Given the description of an element on the screen output the (x, y) to click on. 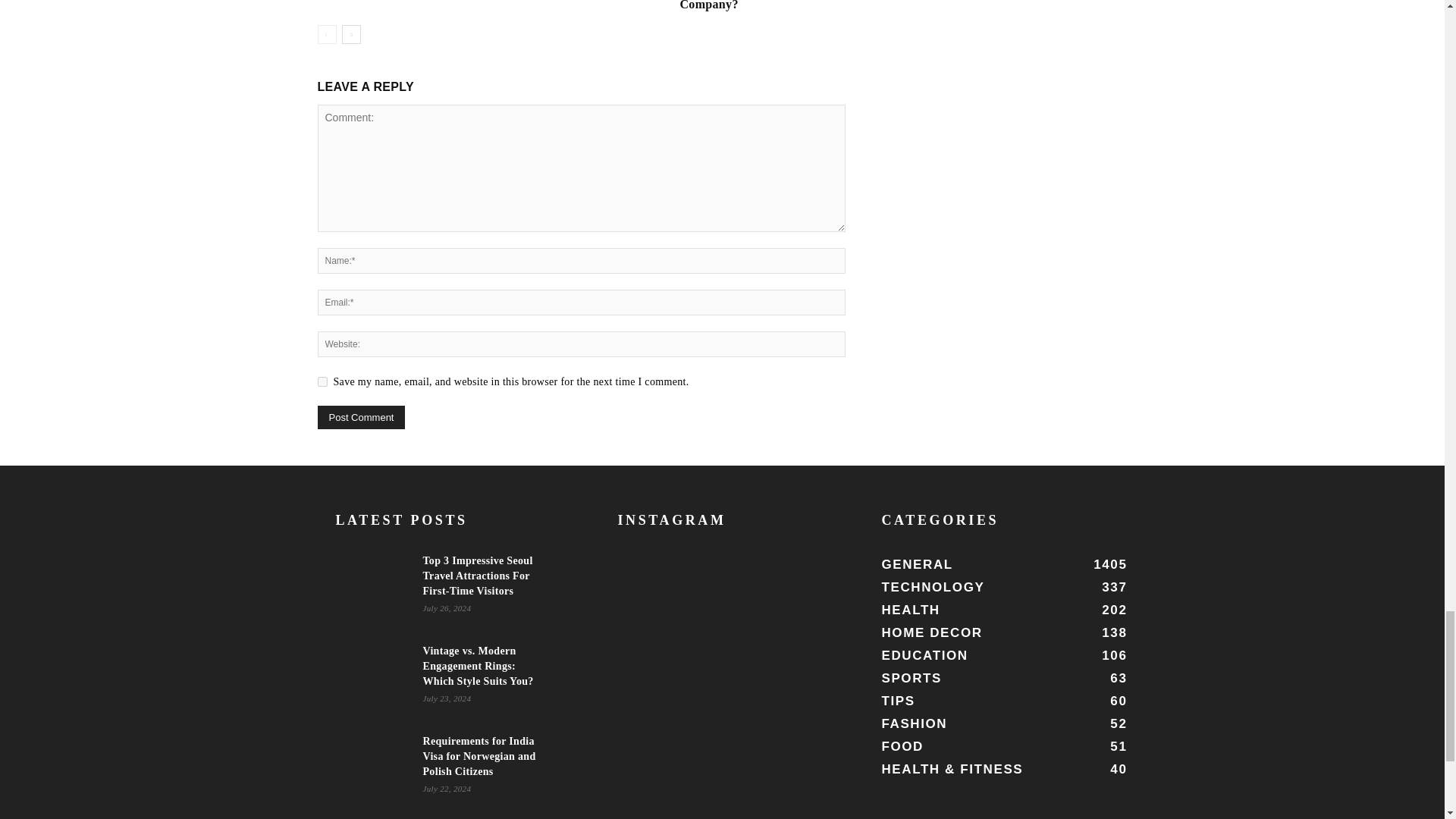
yes (321, 381)
Post Comment (360, 417)
